Given the description of an element on the screen output the (x, y) to click on. 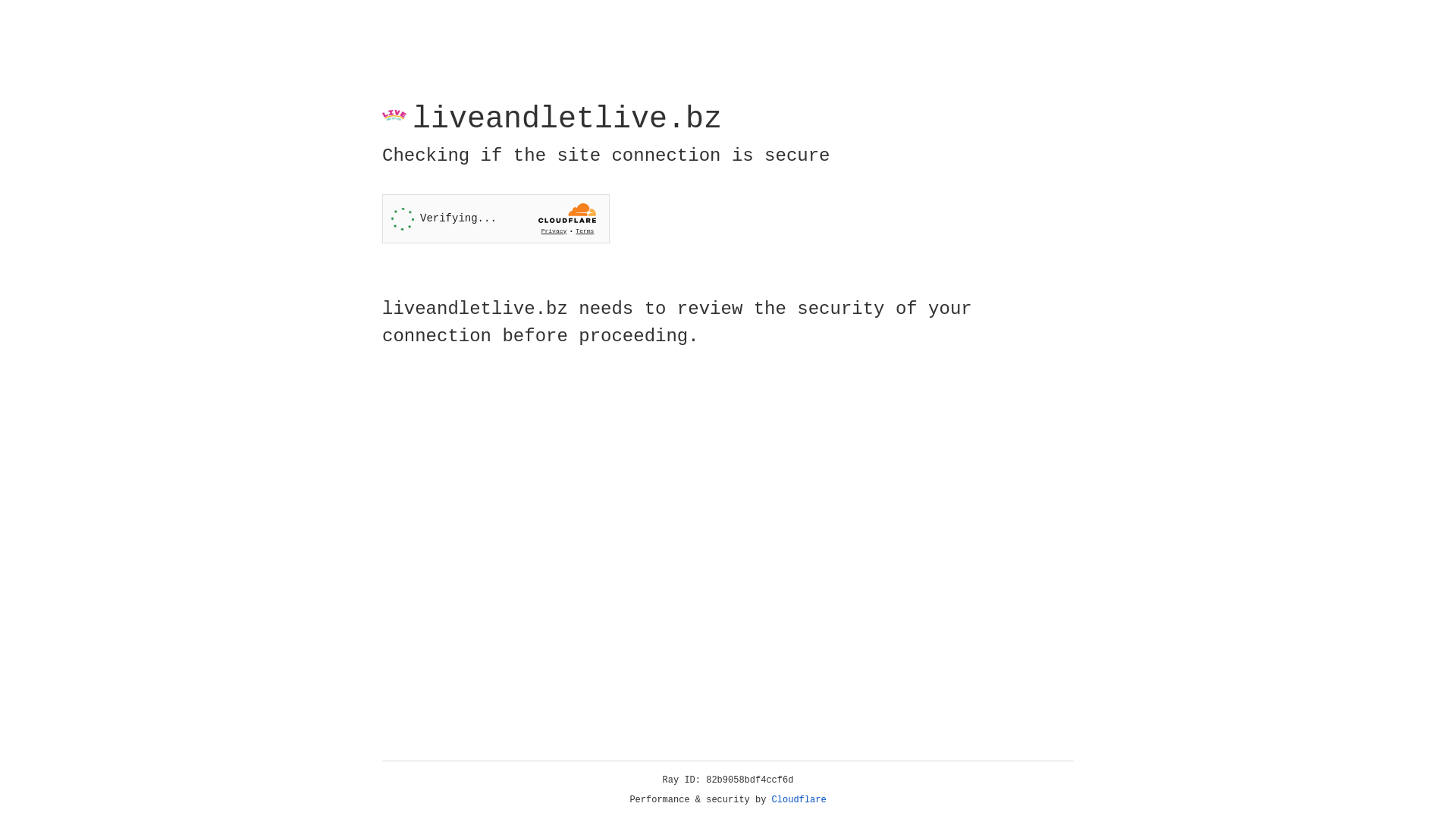
Widget containing a Cloudflare security challenge Element type: hover (495, 218)
Cloudflare Element type: text (798, 799)
